Given the description of an element on the screen output the (x, y) to click on. 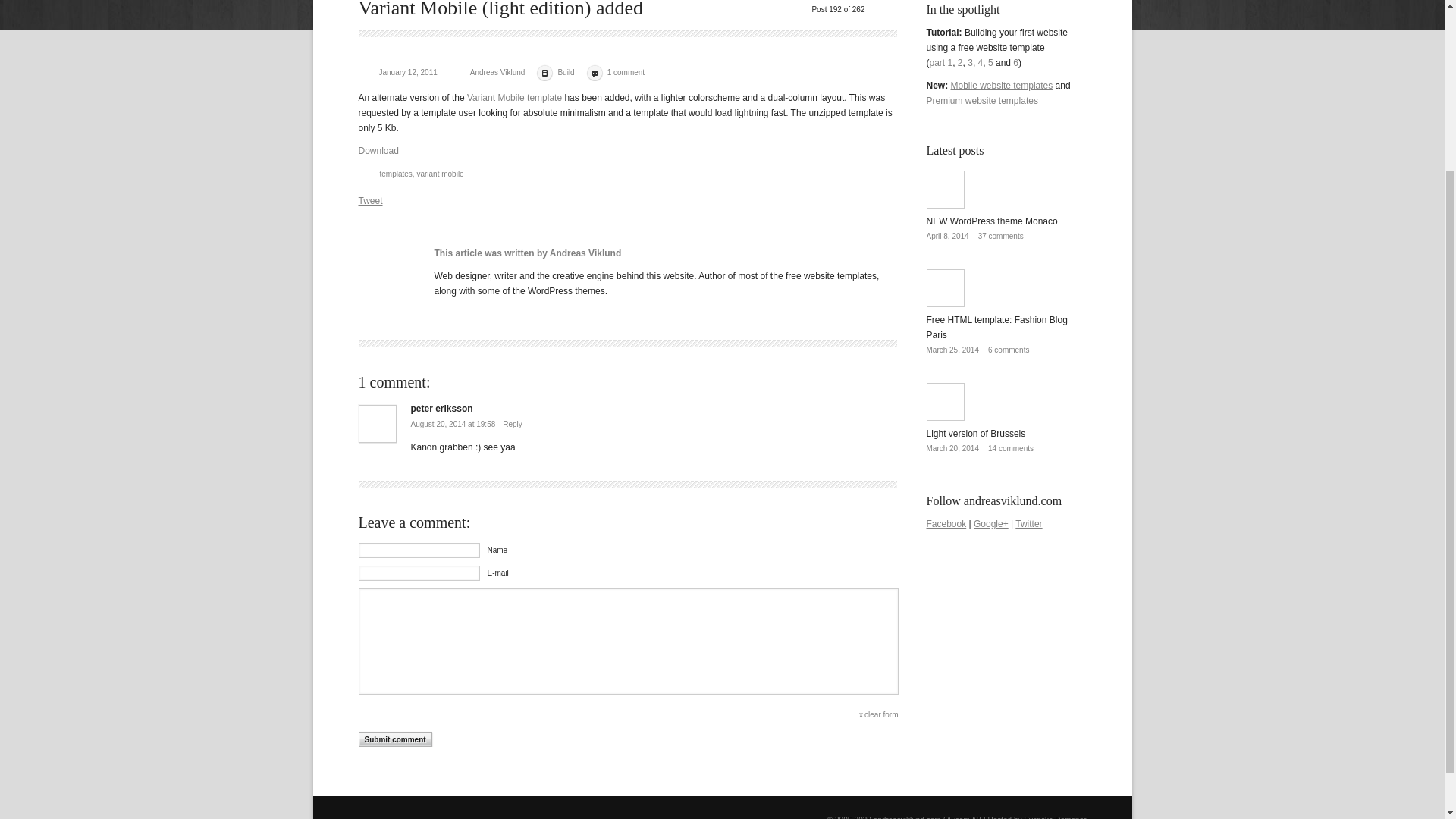
Add comment (394, 739)
Submit comment (394, 739)
part 1 (941, 62)
Reply (510, 424)
1 comment (626, 71)
clear form (881, 714)
Tweet (369, 200)
Variant Mobile template (514, 97)
Build (565, 71)
templates (395, 173)
